Given the description of an element on the screen output the (x, y) to click on. 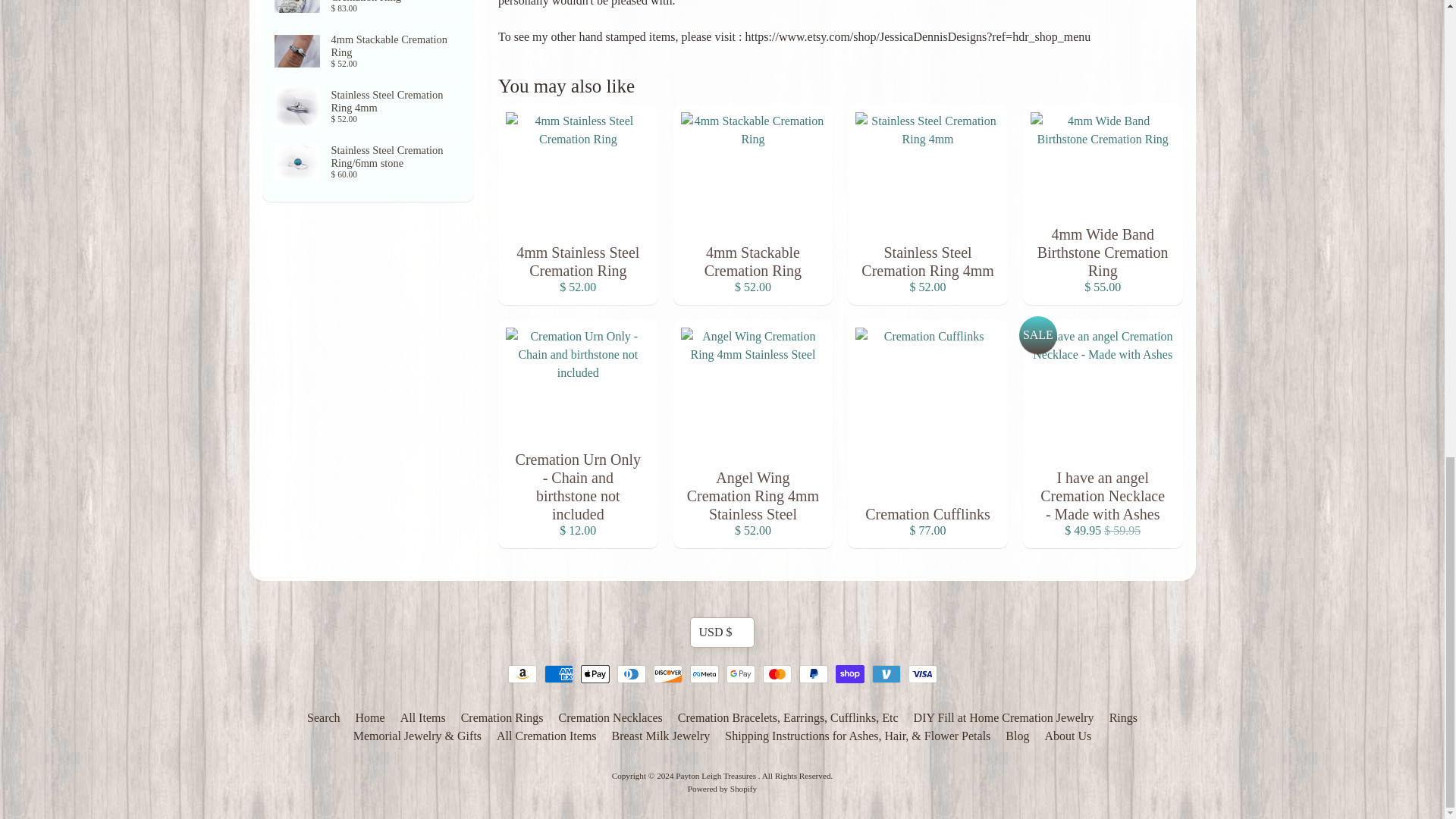
Diners Club (631, 674)
Visa (922, 674)
Mastercard (777, 674)
Shop Pay (849, 674)
Stainless Steel Cremation Ring 4mm (369, 106)
Meta Pay (704, 674)
Google Pay (740, 674)
Sterling Silver 6mm Rope Cremation Ring (369, 11)
4mm Stackable Cremation Ring (369, 51)
Apple Pay (595, 674)
PayPal (813, 674)
Venmo (886, 674)
American Express (558, 674)
Amazon (522, 674)
Discover (667, 674)
